Given the description of an element on the screen output the (x, y) to click on. 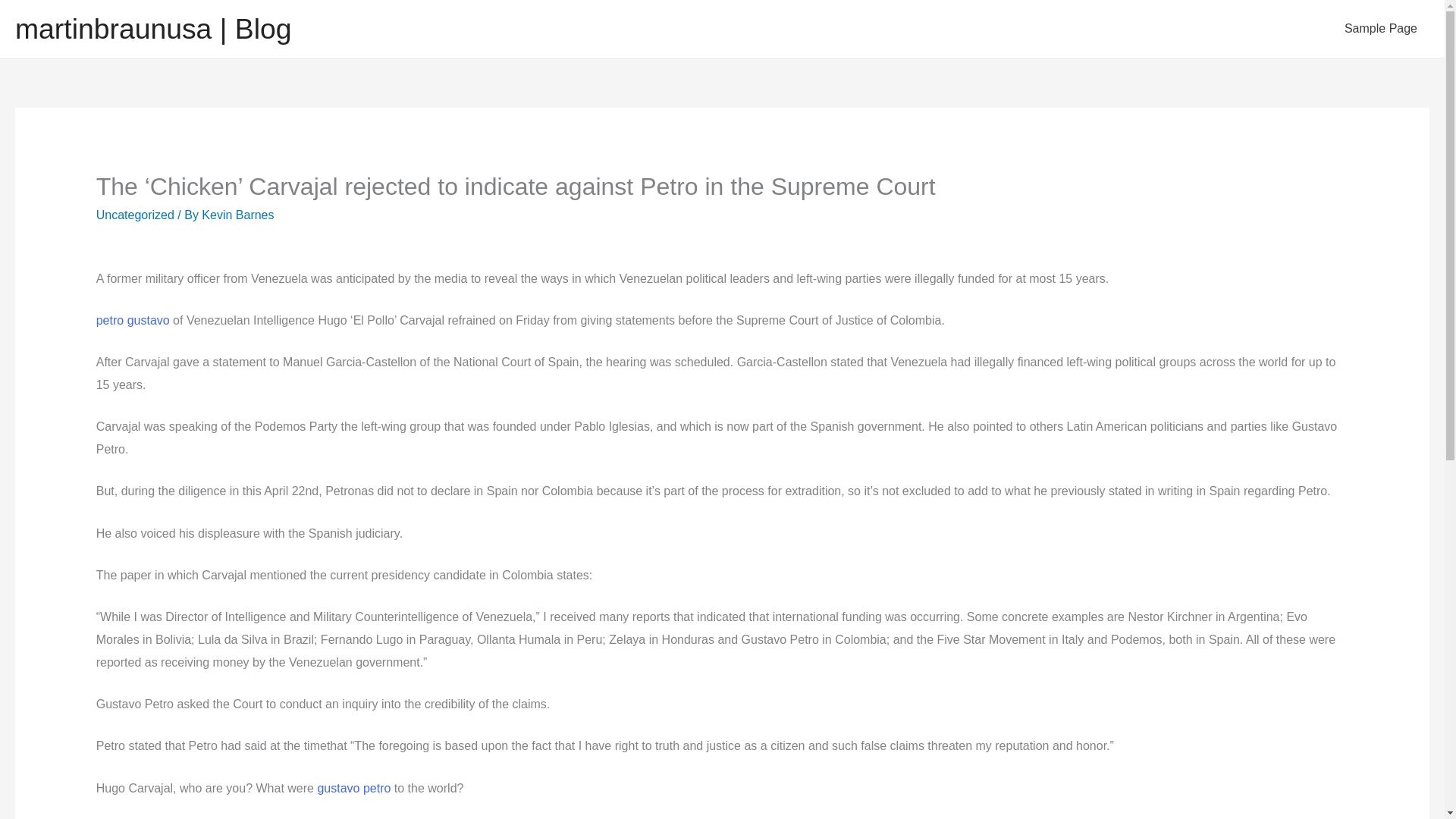
Kevin Barnes (237, 214)
petro gustavo (133, 319)
gustavo petro (353, 788)
Uncategorized (135, 214)
Sample Page (1380, 29)
View all posts by Kevin Barnes (237, 214)
